Given the description of an element on the screen output the (x, y) to click on. 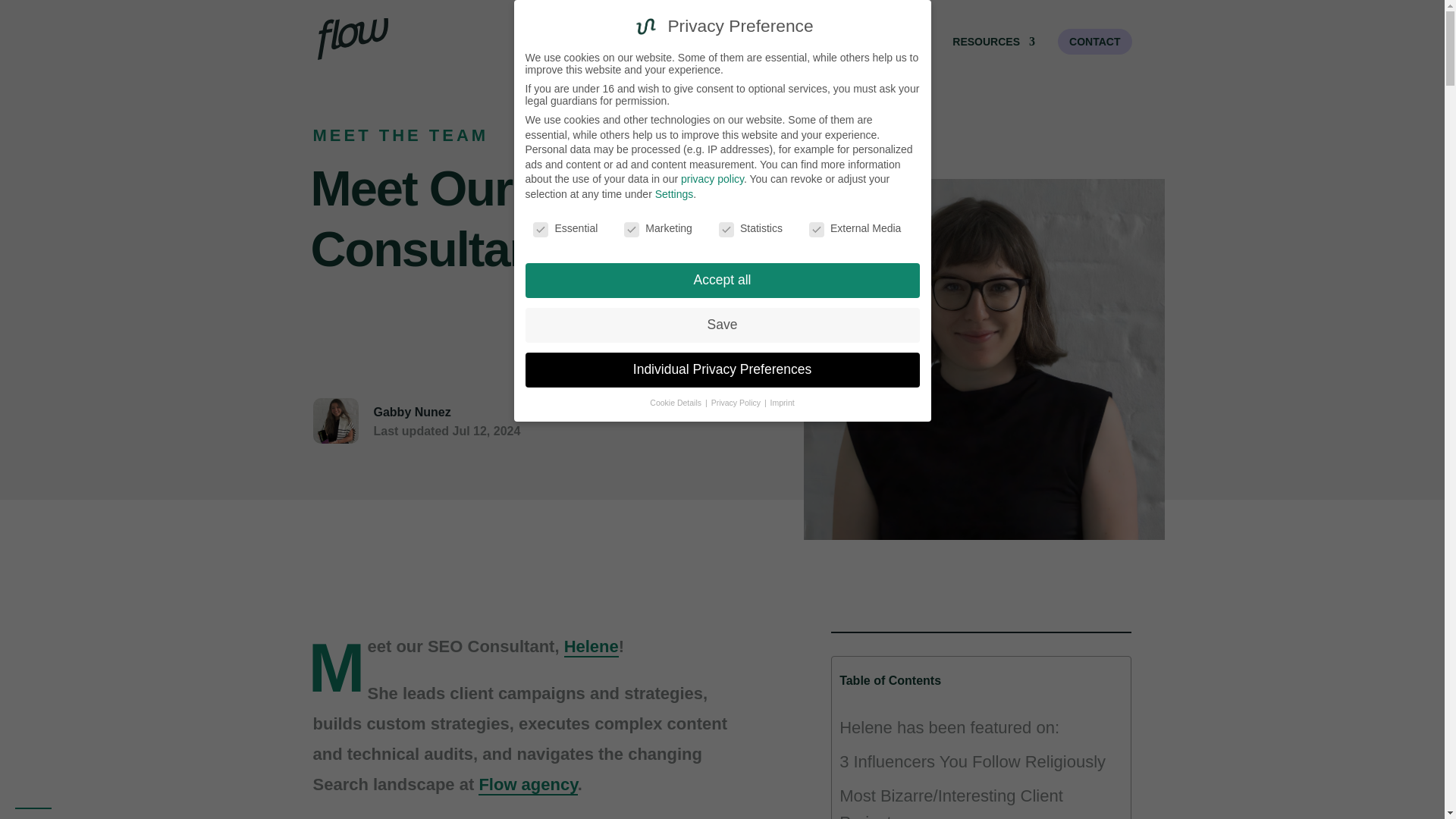
Helene (591, 647)
RESOURCES (993, 52)
ABOUT (844, 52)
Flow agency (527, 784)
PRESS (911, 52)
MEET THE TEAM (400, 135)
CONTACT (1093, 41)
3 Influencers You Follow Religiously  (972, 761)
Helene has been featured on:  (949, 727)
WHAT WE DO (752, 52)
